Given the description of an element on the screen output the (x, y) to click on. 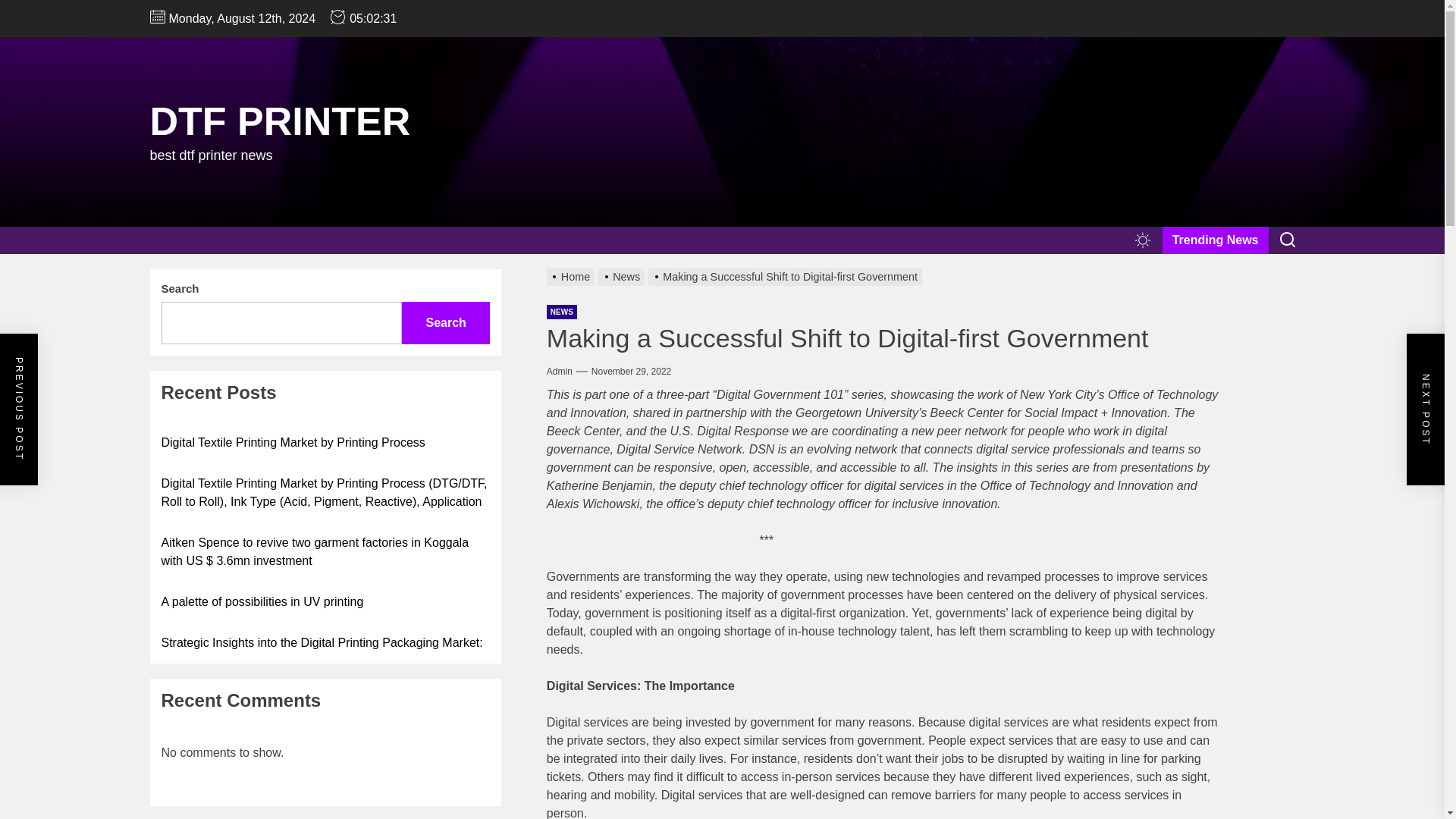
NEWS (561, 311)
Admin (559, 371)
News (622, 276)
Making a Successful Shift to Digital-first Government (786, 276)
Trending News (1214, 239)
Home (572, 276)
DTF PRINTER (279, 120)
